Given the description of an element on the screen output the (x, y) to click on. 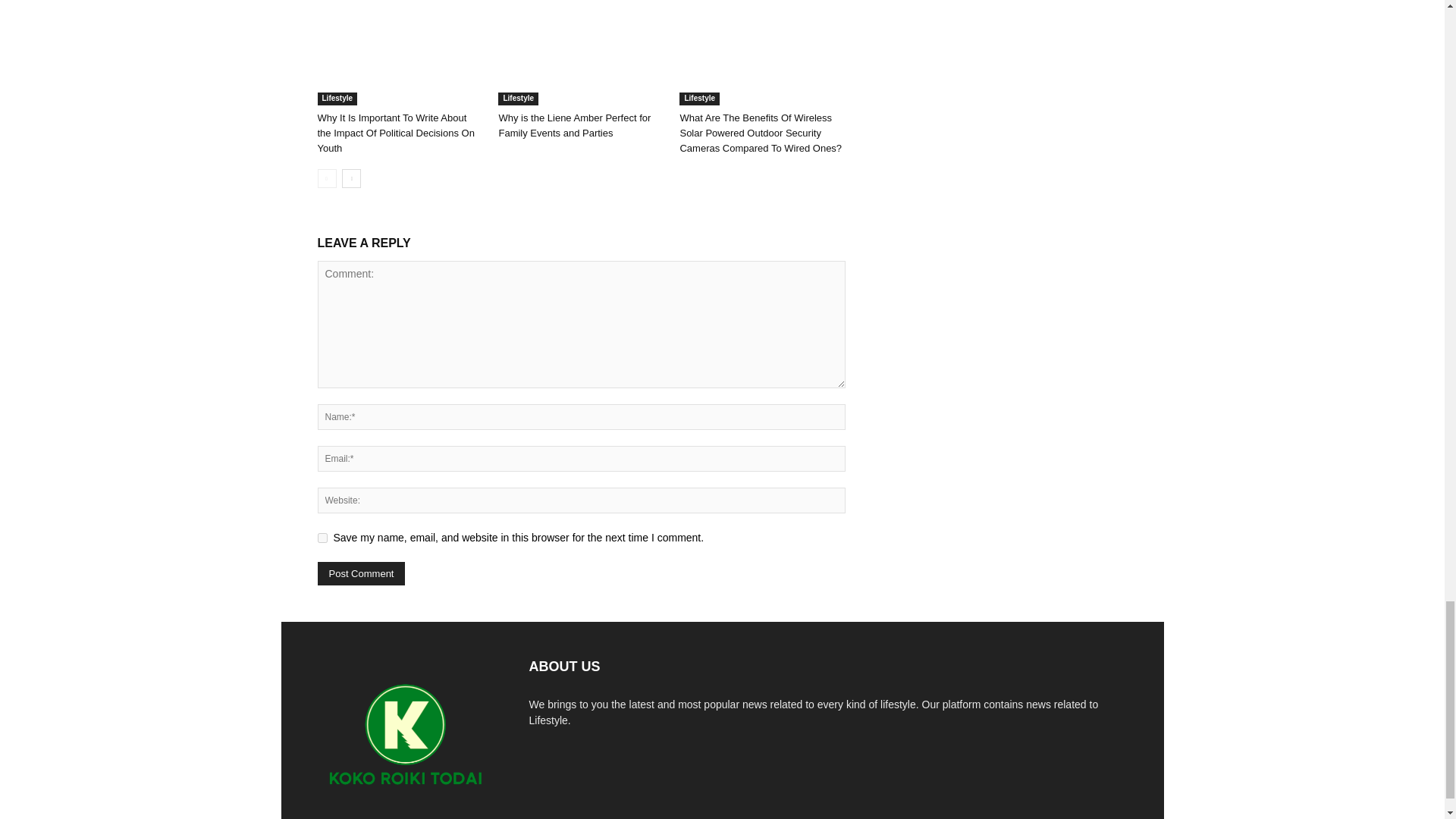
Post Comment (360, 573)
yes (321, 537)
